Given the description of an element on the screen output the (x, y) to click on. 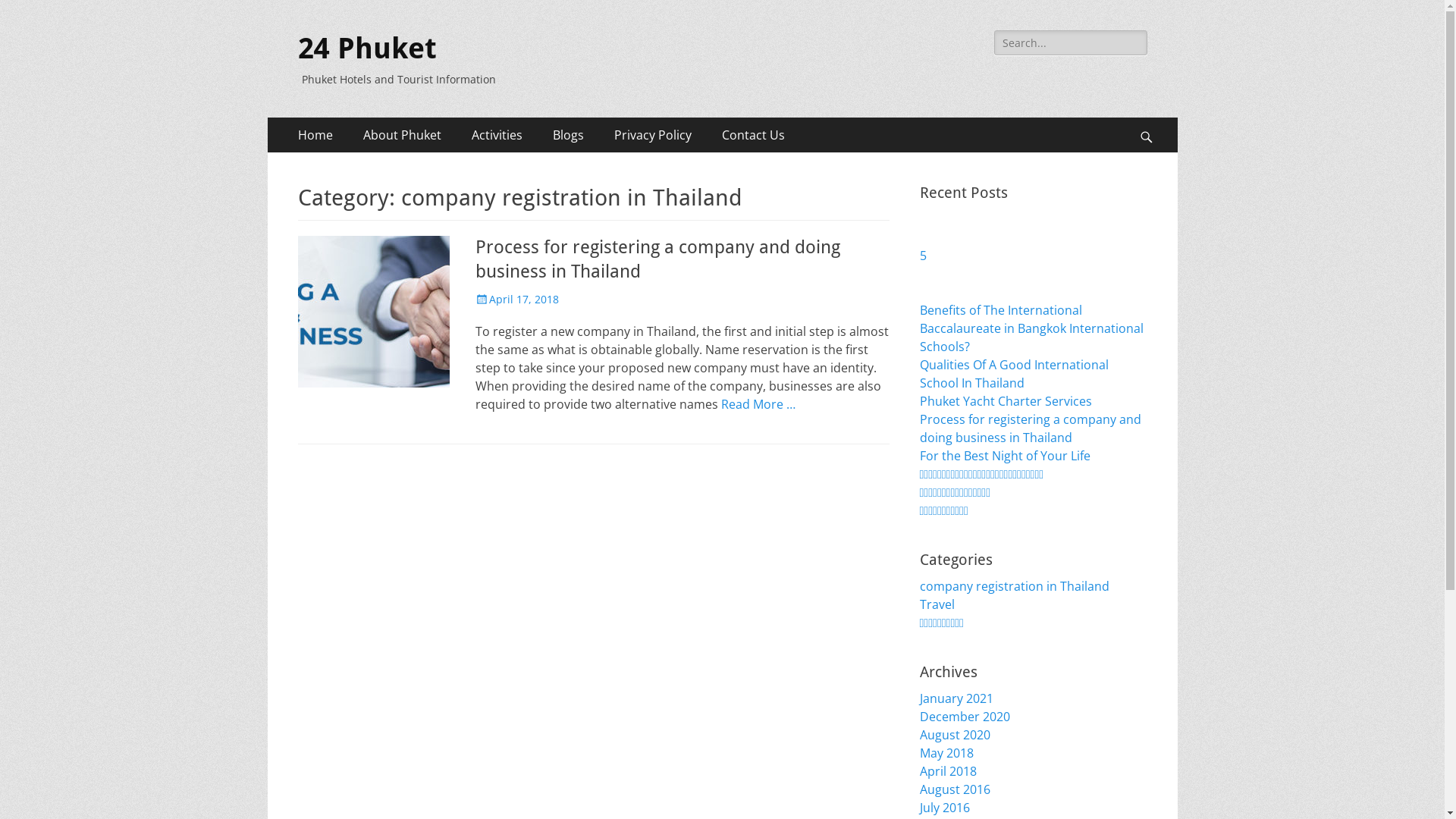
Privacy Policy Element type: text (652, 134)
January 2021 Element type: text (955, 698)
July 2016 Element type: text (944, 807)
Search Element type: text (1152, 116)
Home Element type: text (314, 134)
Activities Element type: text (496, 134)
Qualities Of A Good International School In Thailand Element type: text (1013, 373)
24 Phuket Element type: text (366, 48)
Travel Element type: text (936, 604)
August 2016 Element type: text (954, 789)
About Phuket Element type: text (401, 134)
Blogs Element type: text (567, 134)
company registration in Thailand Element type: text (1013, 585)
For the Best Night of Your Life Element type: text (1004, 455)
Phuket Yacht Charter Services Element type: text (1005, 400)
Search for: Element type: hover (1070, 42)
April 2018 Element type: text (947, 770)
August 2020 Element type: text (954, 734)
May 2018 Element type: text (945, 752)
Contact Us Element type: text (753, 134)
April 17, 2018 Element type: text (516, 298)
Search Element type: text (34, 13)
December 2020 Element type: text (964, 716)
